Given the description of an element on the screen output the (x, y) to click on. 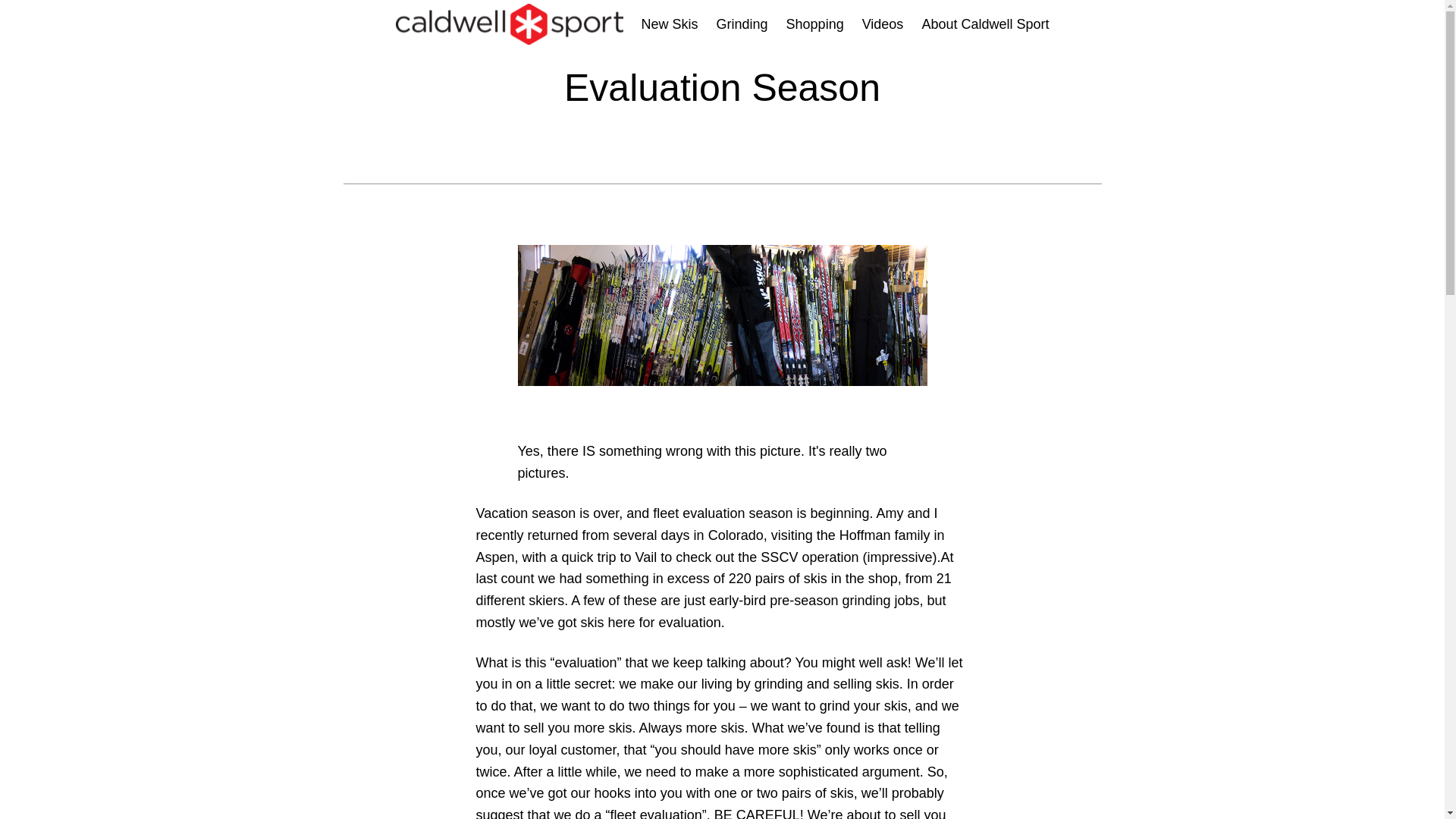
EvalSprin2012 (721, 339)
Grinding (742, 24)
About Caldwell Sport (984, 24)
New Skis (670, 24)
Shopping (815, 24)
Videos (882, 24)
